Given the description of an element on the screen output the (x, y) to click on. 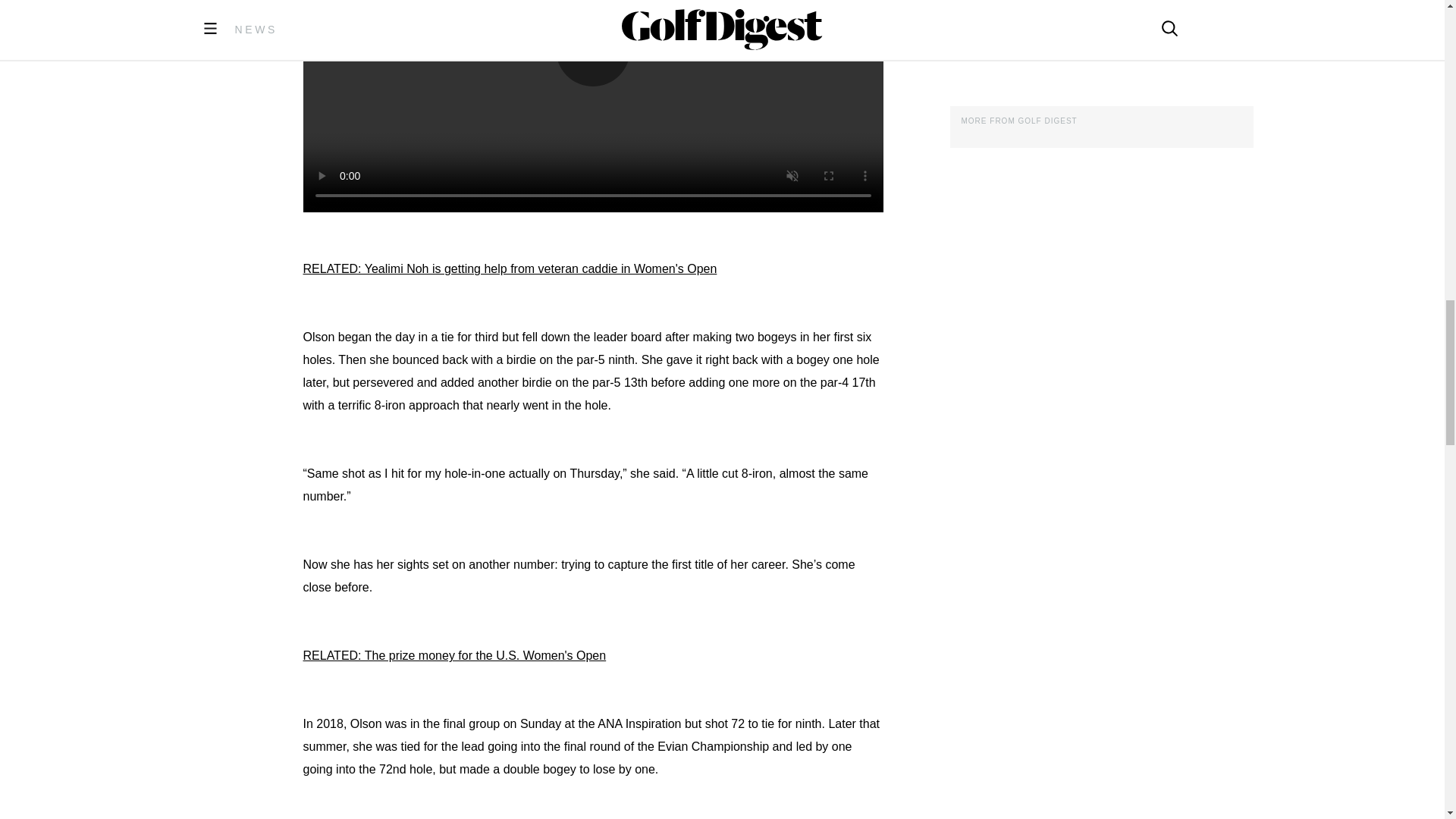
Play Video (593, 49)
